Given the description of an element on the screen output the (x, y) to click on. 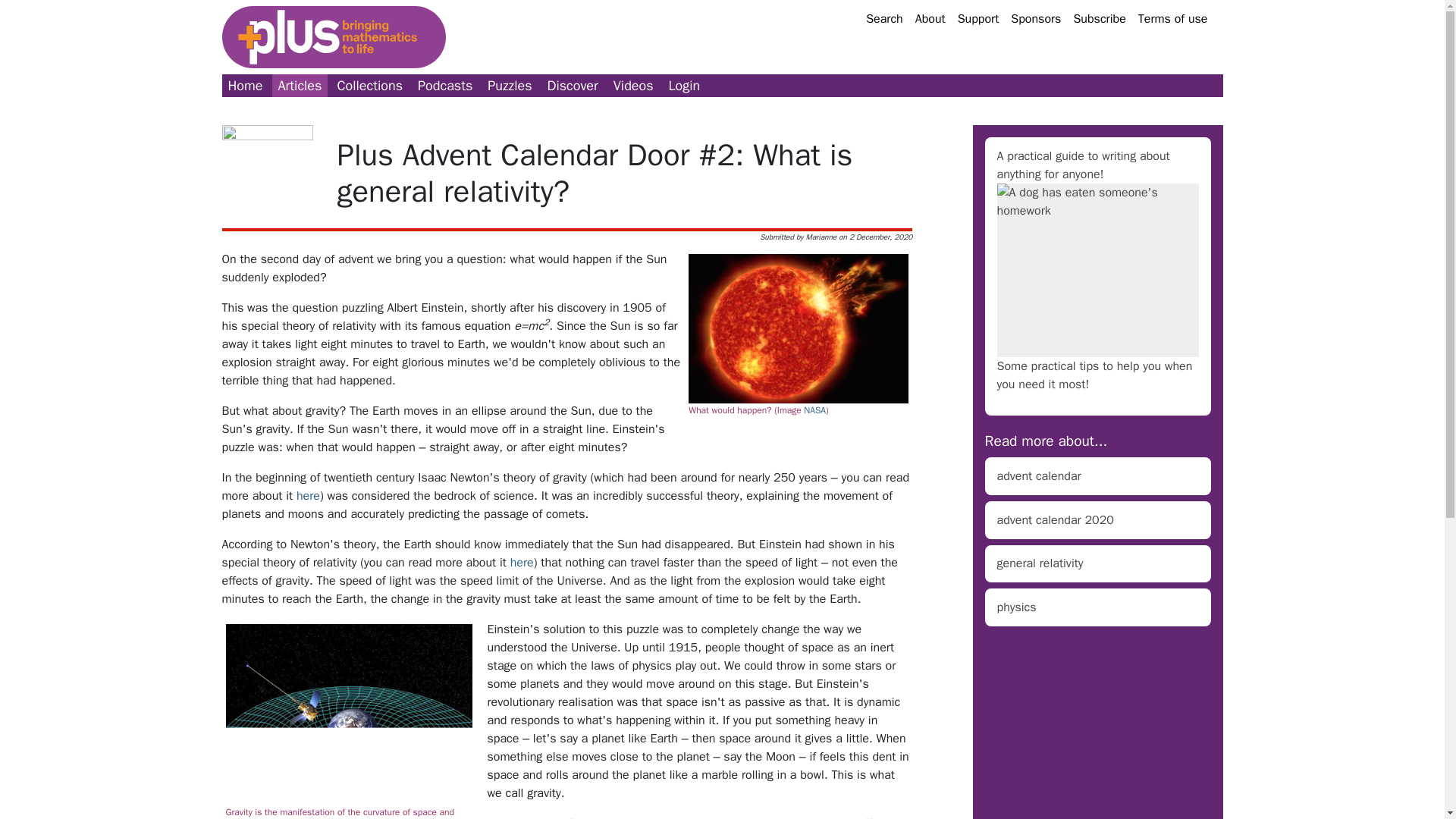
Podcasts (445, 85)
Search (884, 18)
Packages (369, 85)
here (522, 562)
Terms of use (1173, 18)
Podcasts (445, 85)
Collections (369, 85)
Sponsors (1035, 18)
Book film and other reviews (572, 85)
Discover (572, 85)
here (308, 495)
Subscribe (1099, 18)
Articles (300, 85)
Support (979, 18)
Home (244, 85)
